Given the description of an element on the screen output the (x, y) to click on. 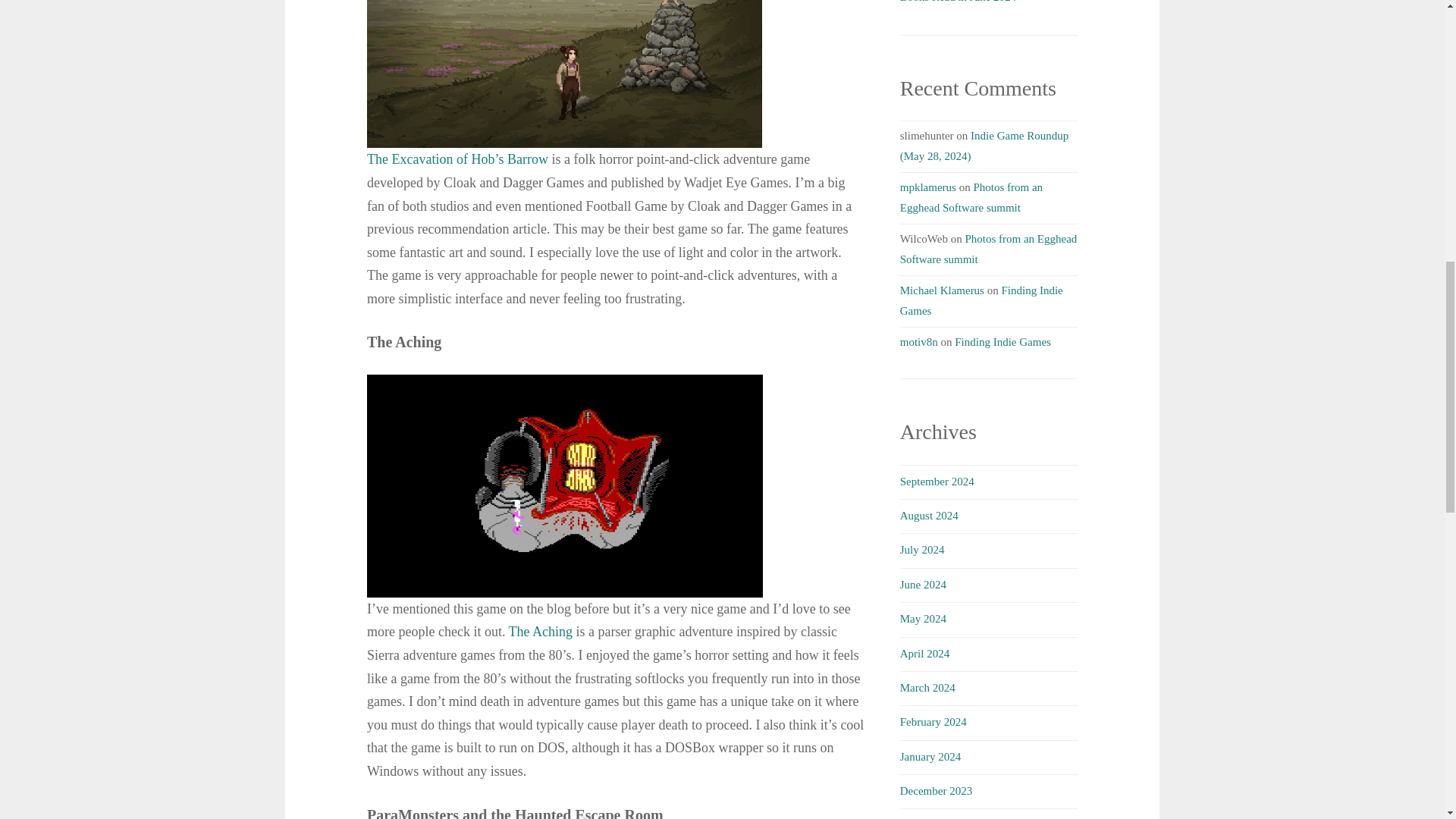
May 2024 (922, 618)
mpklamerus (927, 186)
Finding Indie Games (1003, 341)
August 2024 (928, 515)
Finding Indie Games (980, 300)
February 2024 (932, 721)
Photos from an Egghead Software summit (970, 196)
July 2024 (921, 549)
April 2024 (924, 653)
March 2024 (927, 687)
